Given the description of an element on the screen output the (x, y) to click on. 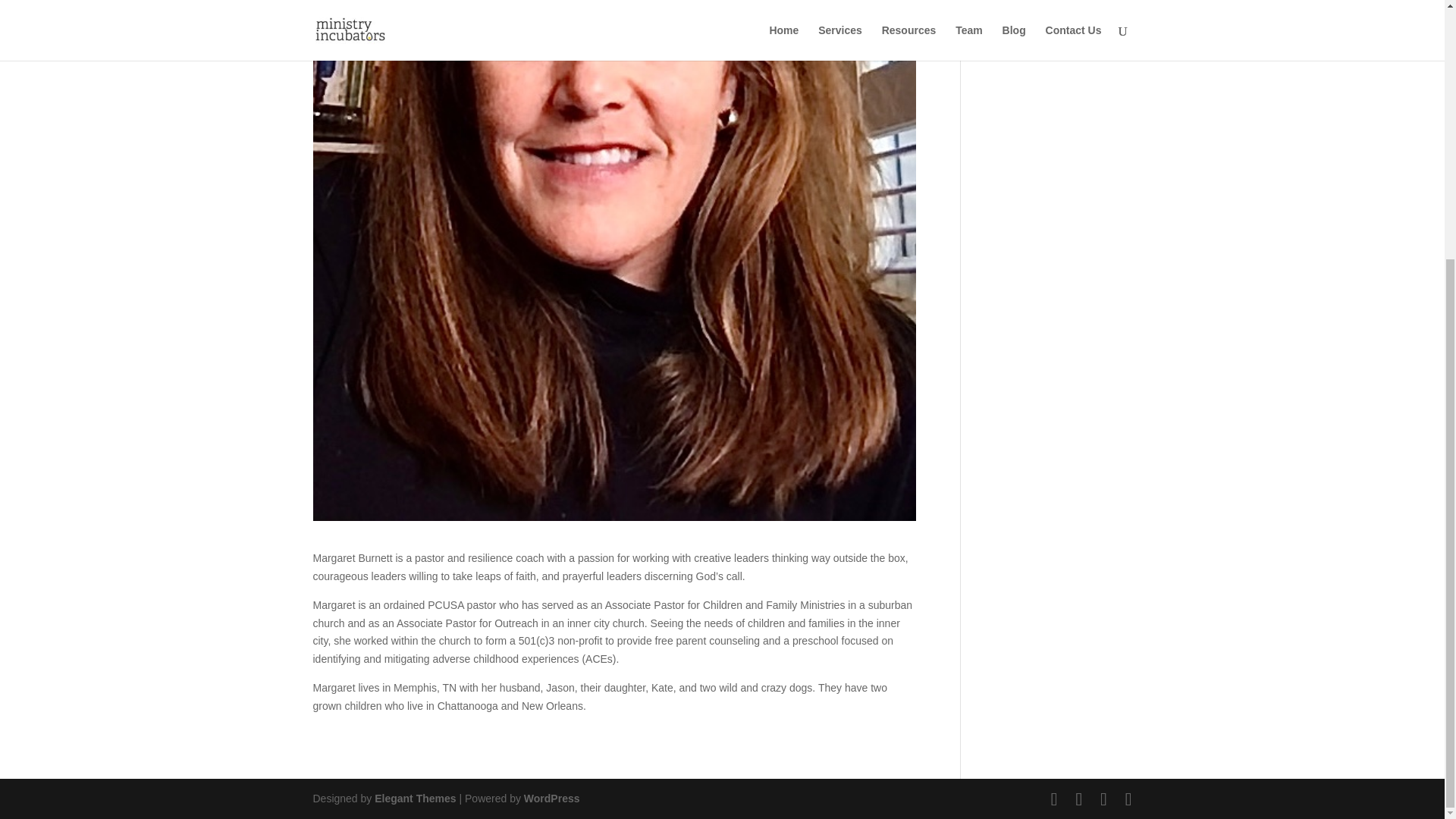
Premium WordPress Themes (414, 798)
Elegant Themes (414, 798)
WordPress (551, 798)
